Given the description of an element on the screen output the (x, y) to click on. 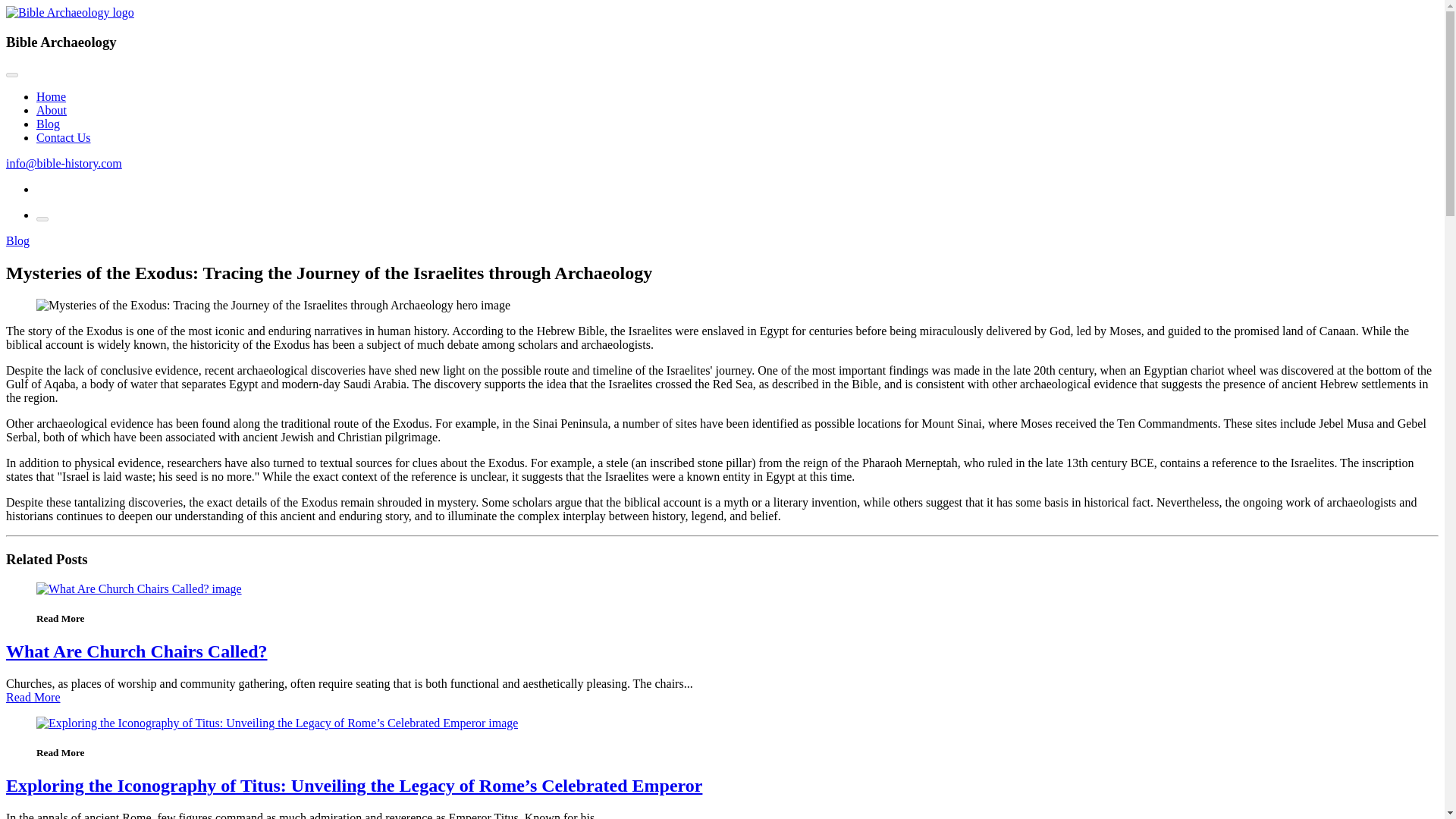
About (51, 110)
Blog (47, 123)
Contact Us (63, 137)
Home (50, 96)
Read More (33, 697)
What Are Church Chairs Called? (135, 650)
Blog (17, 240)
